Given the description of an element on the screen output the (x, y) to click on. 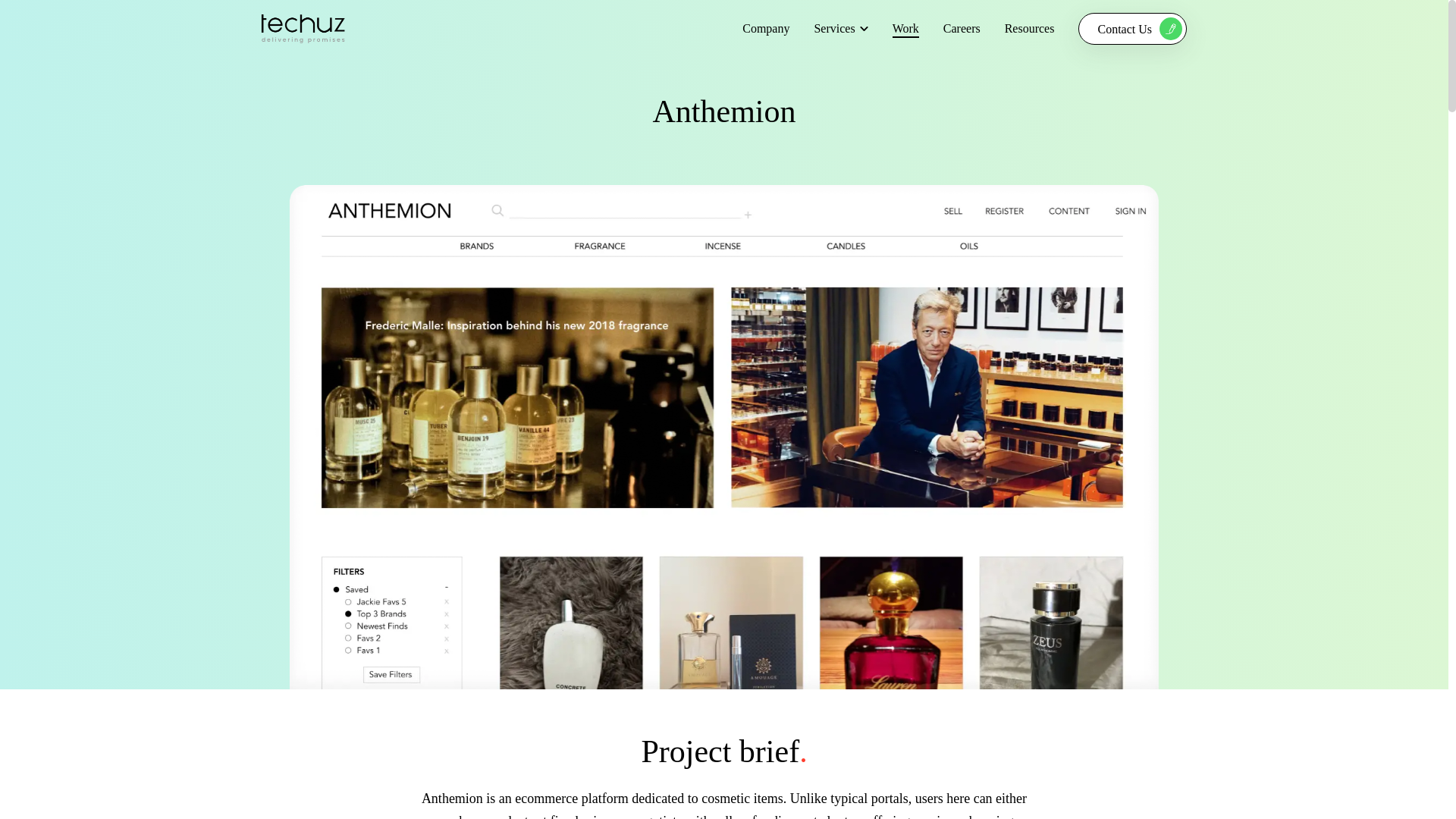
Contact Us (1132, 29)
Careers (961, 28)
Work (905, 28)
Resources (958, 28)
Company (1029, 28)
